Given the description of an element on the screen output the (x, y) to click on. 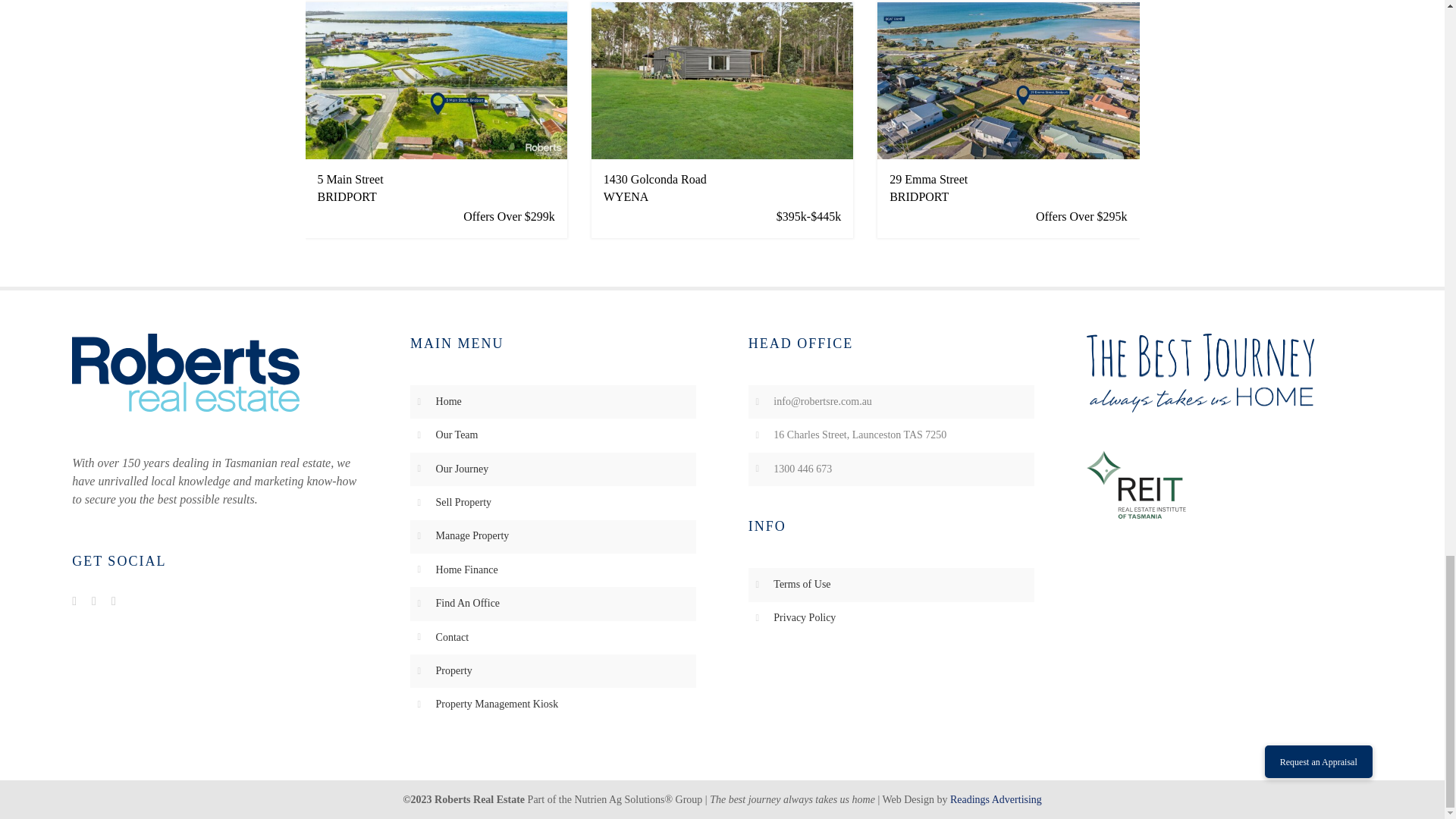
Property Management Kiosk (497, 704)
The Best Journey Always Takes Us Home (1199, 372)
Asset 1 (185, 372)
image001-4 (1135, 484)
